Given the description of an element on the screen output the (x, y) to click on. 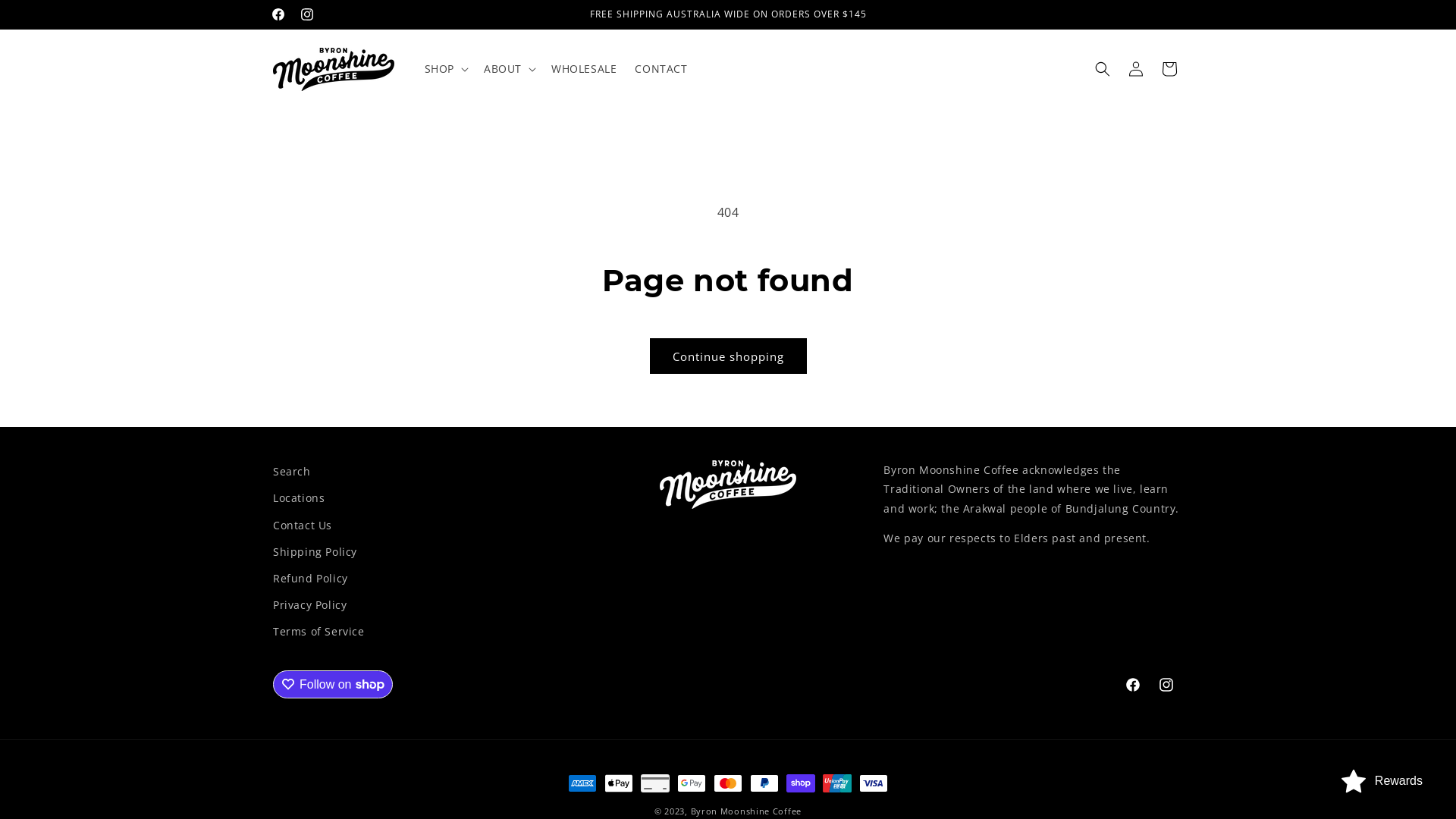
Log in Element type: text (1135, 68)
Shipping Policy Element type: text (315, 551)
Facebook Element type: text (1132, 684)
Cart Element type: text (1169, 68)
Byron Moonshine Coffee Element type: text (745, 810)
Refund Policy Element type: text (310, 577)
FACEBOOK Element type: text (277, 14)
Search Element type: text (291, 472)
INSTAGRAM Element type: text (306, 14)
Privacy Policy Element type: text (309, 604)
Terms of Service Element type: text (318, 631)
CONTACT Element type: text (660, 68)
Continue shopping Element type: text (727, 355)
Instagram Element type: text (1166, 684)
Locations Element type: text (298, 497)
Contact Us Element type: text (302, 524)
WHOLESALE Element type: text (583, 68)
